Given the description of an element on the screen output the (x, y) to click on. 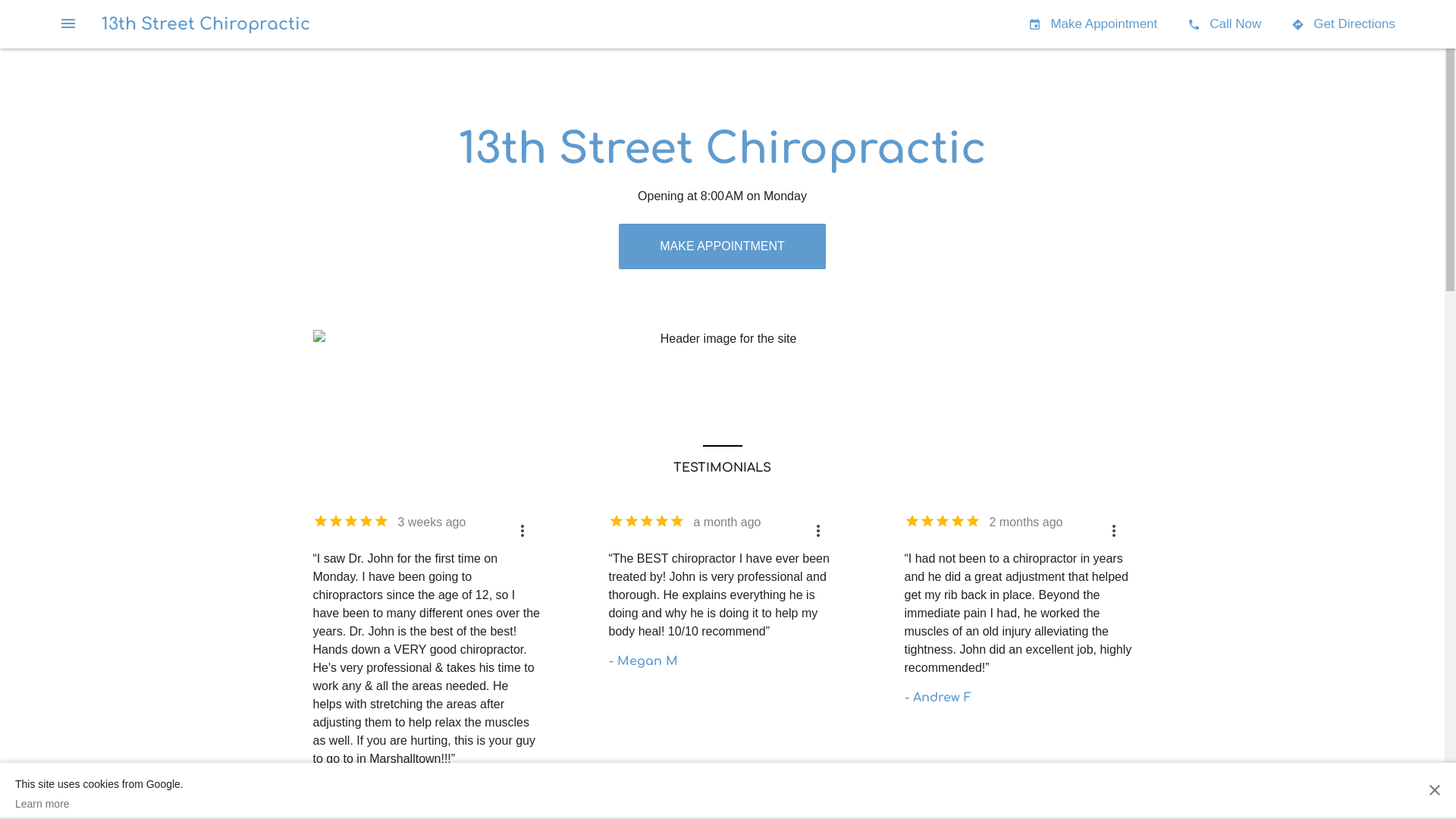
Learn more Element type: text (99, 803)
MAKE APPOINTMENT Element type: text (721, 246)
13th Street Chiropractic Element type: text (205, 24)
